Given the description of an element on the screen output the (x, y) to click on. 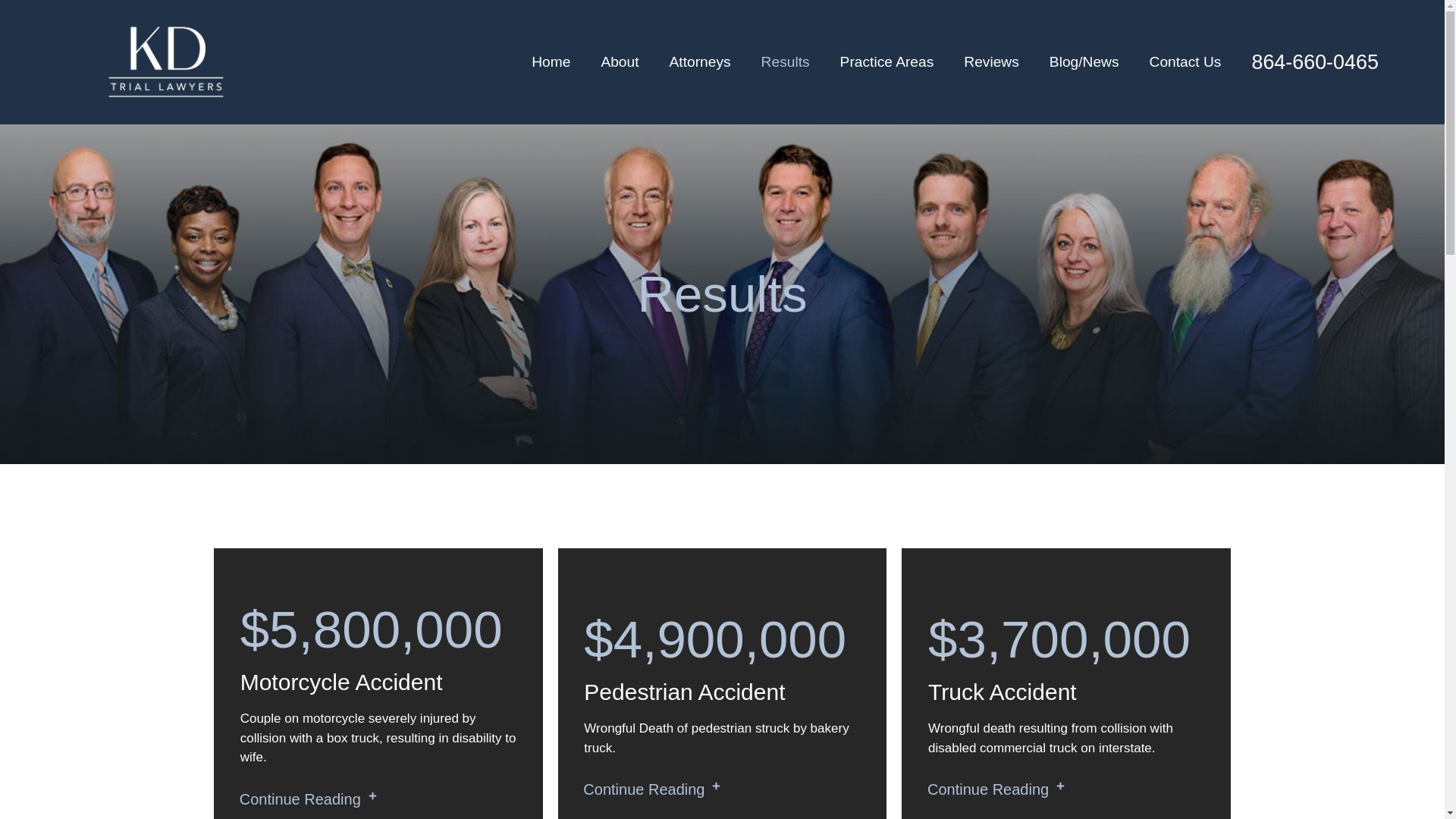
Contact Us (1185, 62)
Home (550, 62)
Attorneys (699, 62)
Reviews (991, 62)
864-660-0465 (1314, 62)
Results (785, 62)
About (619, 62)
Practice Areas (887, 62)
